Given the description of an element on the screen output the (x, y) to click on. 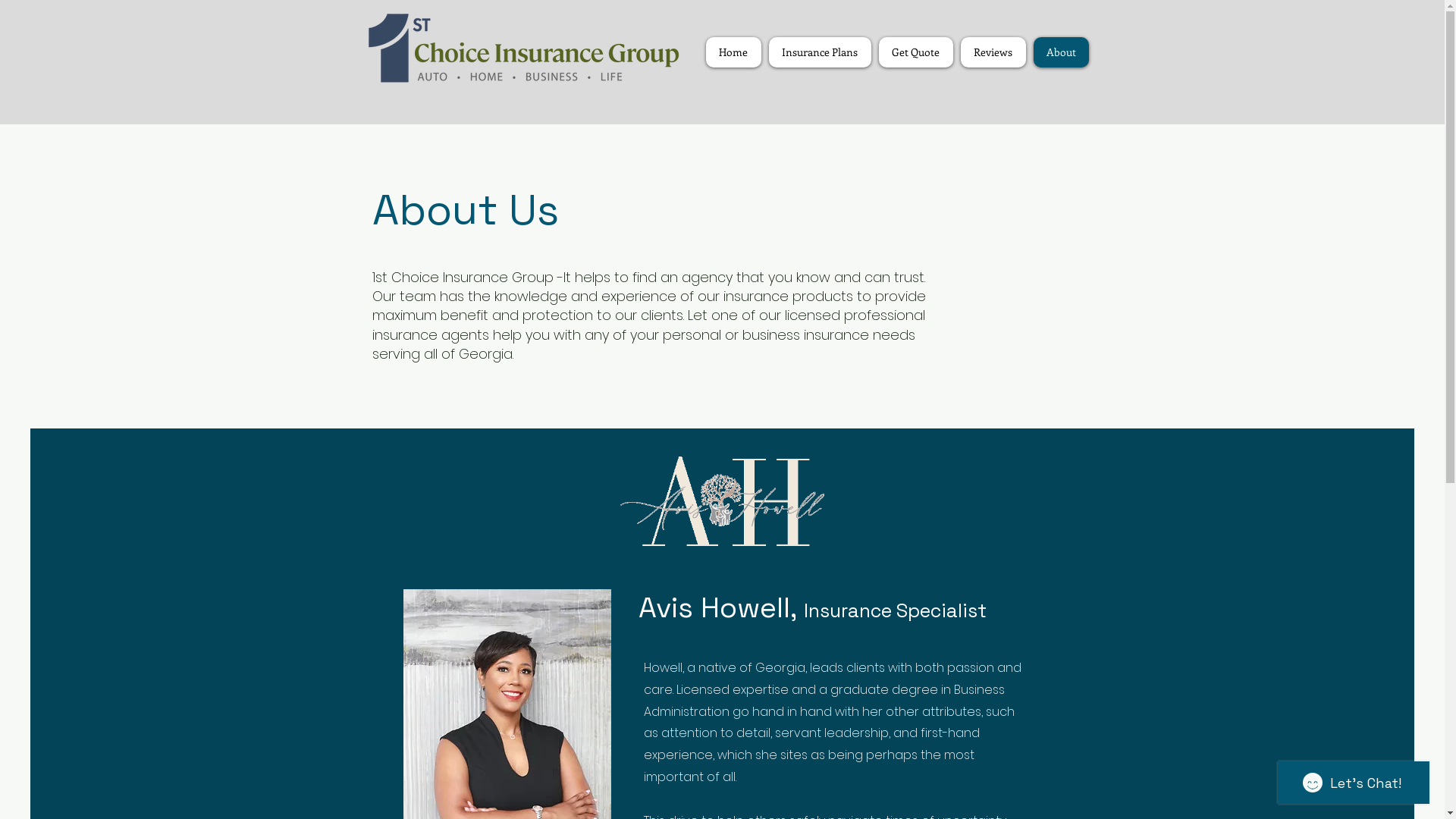
Get Quote Element type: text (915, 52)
Insurance Plans Element type: text (819, 52)
Home Element type: text (732, 52)
About Element type: text (1060, 52)
Reviews Element type: text (992, 52)
